Given the description of an element on the screen output the (x, y) to click on. 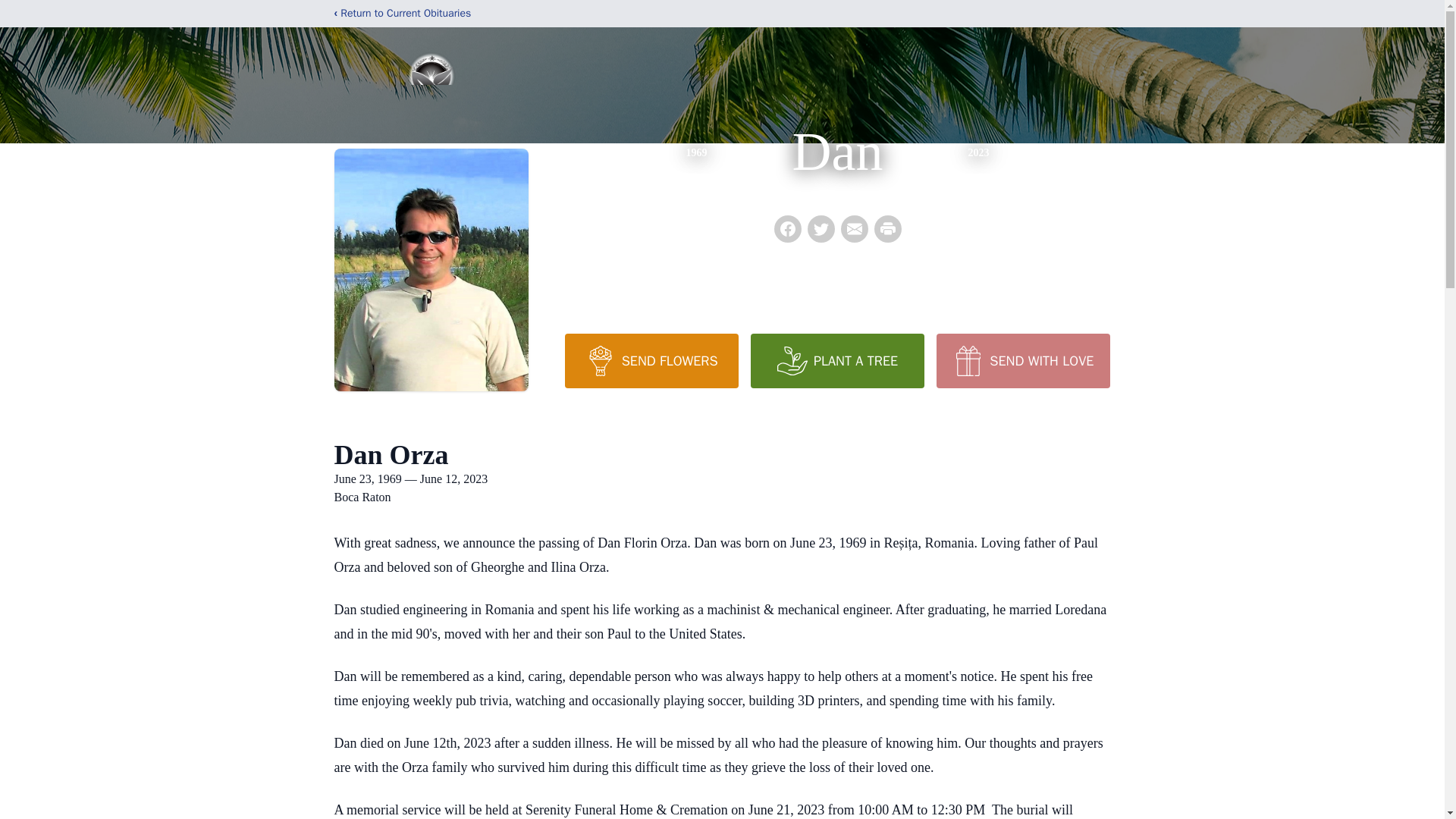
SEND FLOWERS (651, 360)
PLANT A TREE (837, 360)
SEND WITH LOVE (1022, 360)
